Given the description of an element on the screen output the (x, y) to click on. 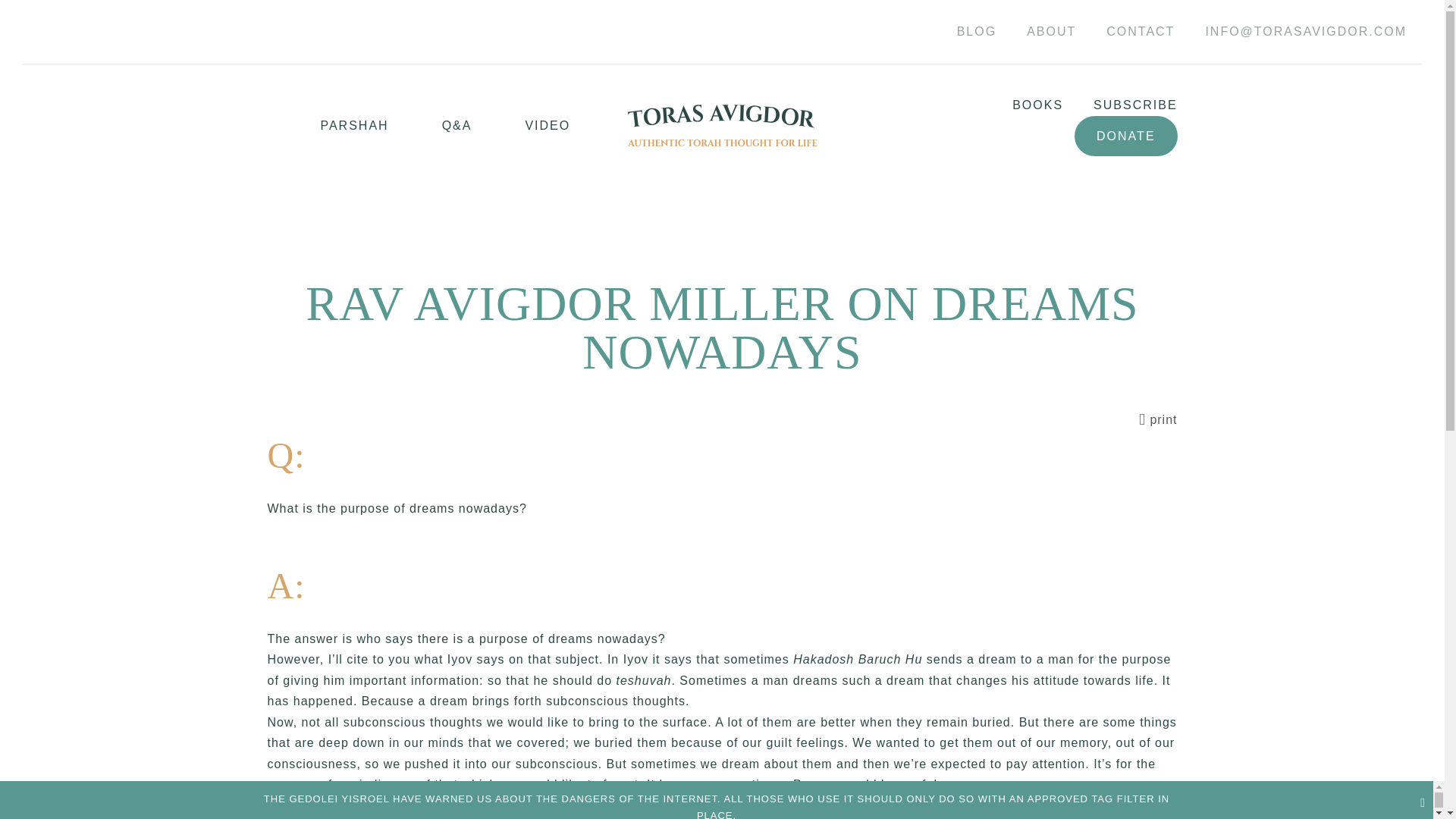
BLOG (976, 31)
VIDEO (520, 125)
SUBSCRIBE (1119, 105)
DONATE (1125, 136)
PARSHAH (327, 125)
CONTACT (1139, 31)
ABOUT (1050, 31)
BOOKS (1021, 105)
